Given the description of an element on the screen output the (x, y) to click on. 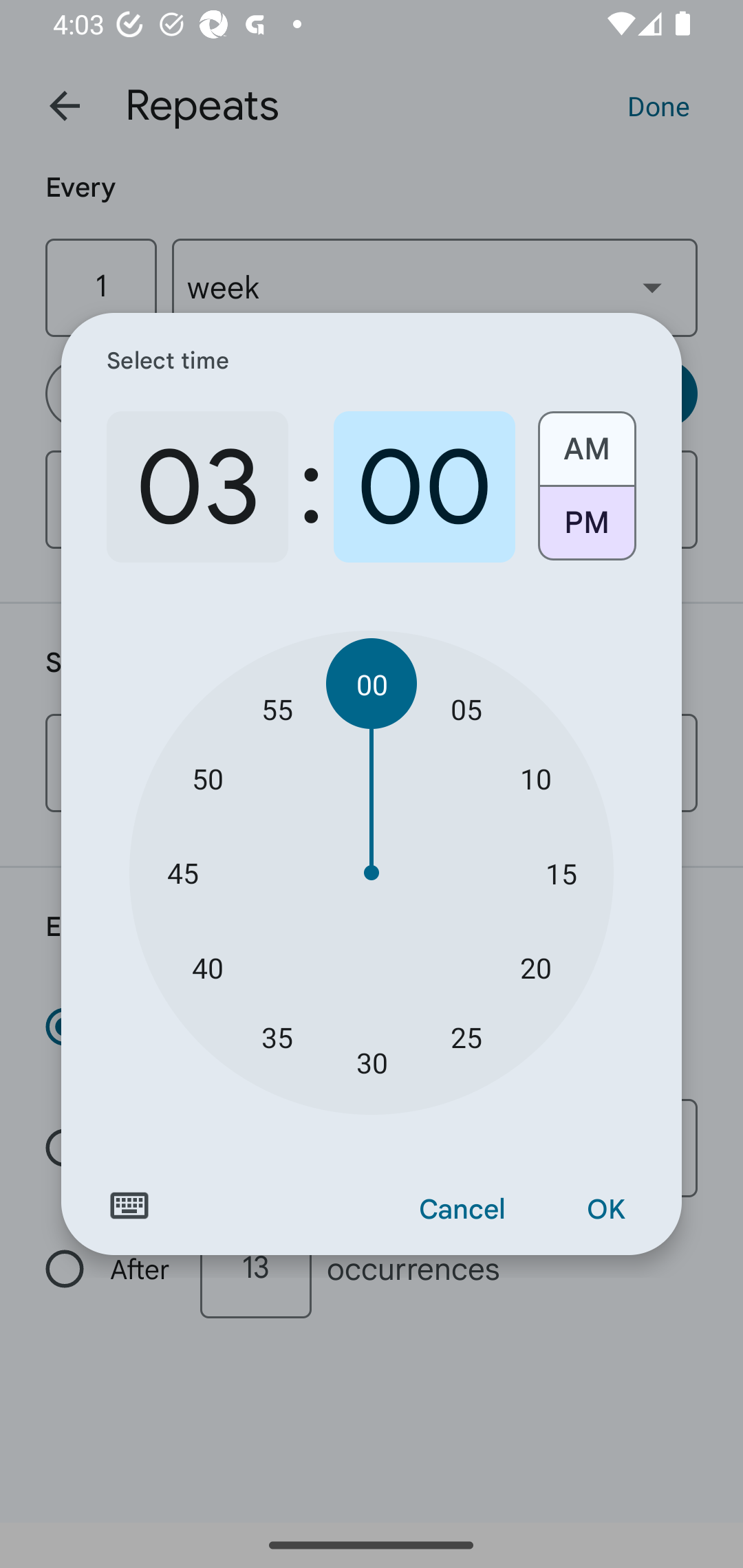
AM (586, 441)
03 3 o'clock (197, 486)
00 0 minutes (424, 486)
PM (586, 529)
00 00 minutes (371, 683)
55 55 minutes (276, 708)
05 05 minutes (466, 708)
50 50 minutes (207, 778)
10 10 minutes (535, 778)
45 45 minutes (182, 872)
15 15 minutes (561, 872)
40 40 minutes (207, 966)
20 20 minutes (535, 966)
35 35 minutes (276, 1035)
25 25 minutes (466, 1035)
30 30 minutes (371, 1062)
Switch to text input mode for the time input. (128, 1205)
Cancel (462, 1209)
OK (605, 1209)
